Given the description of an element on the screen output the (x, y) to click on. 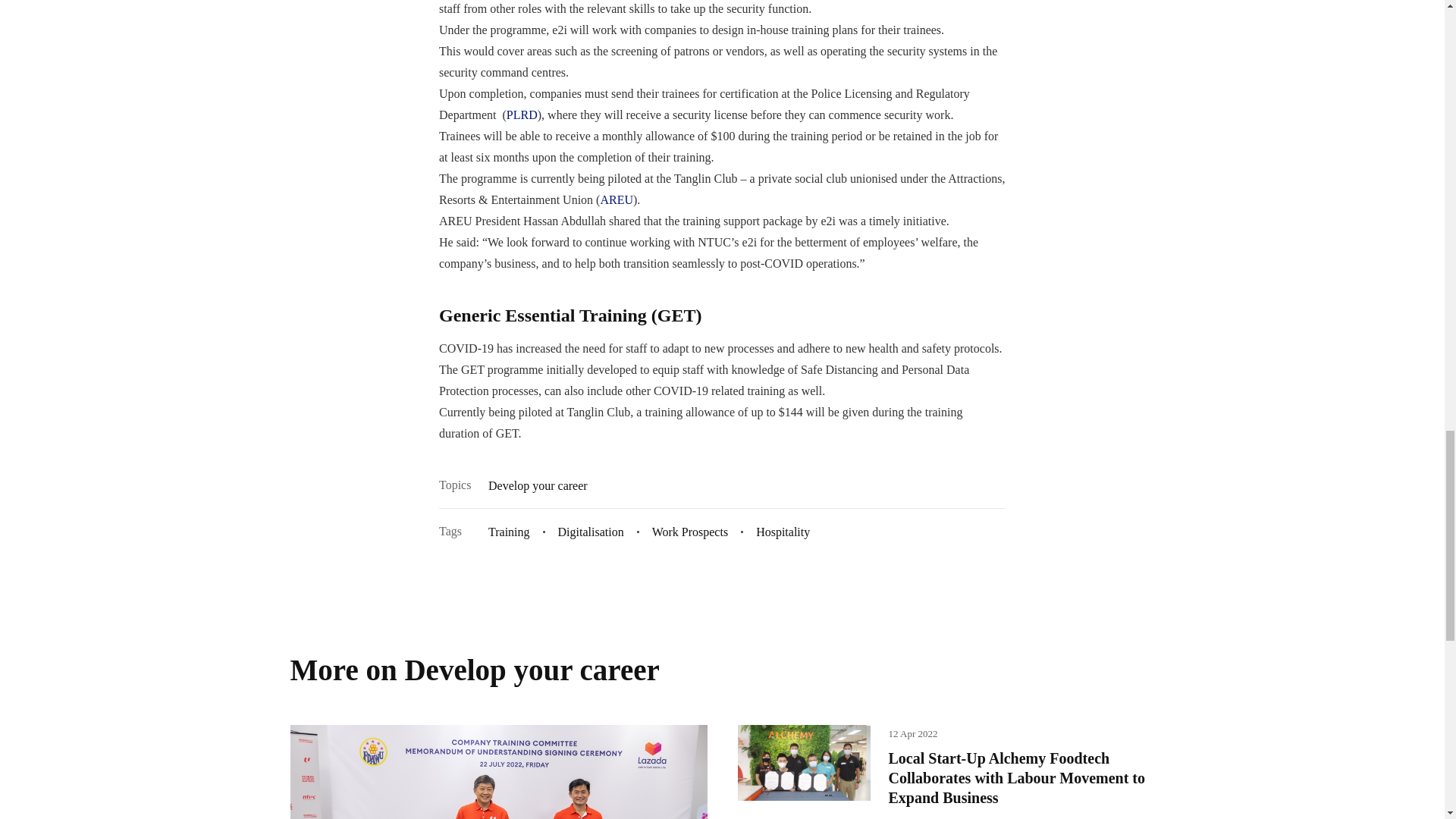
Training (509, 531)
PLRD (521, 114)
Develop your career (537, 485)
Hospitality (782, 531)
AREU (616, 199)
Work Prospects (689, 531)
Digitalisation (590, 531)
